Given the description of an element on the screen output the (x, y) to click on. 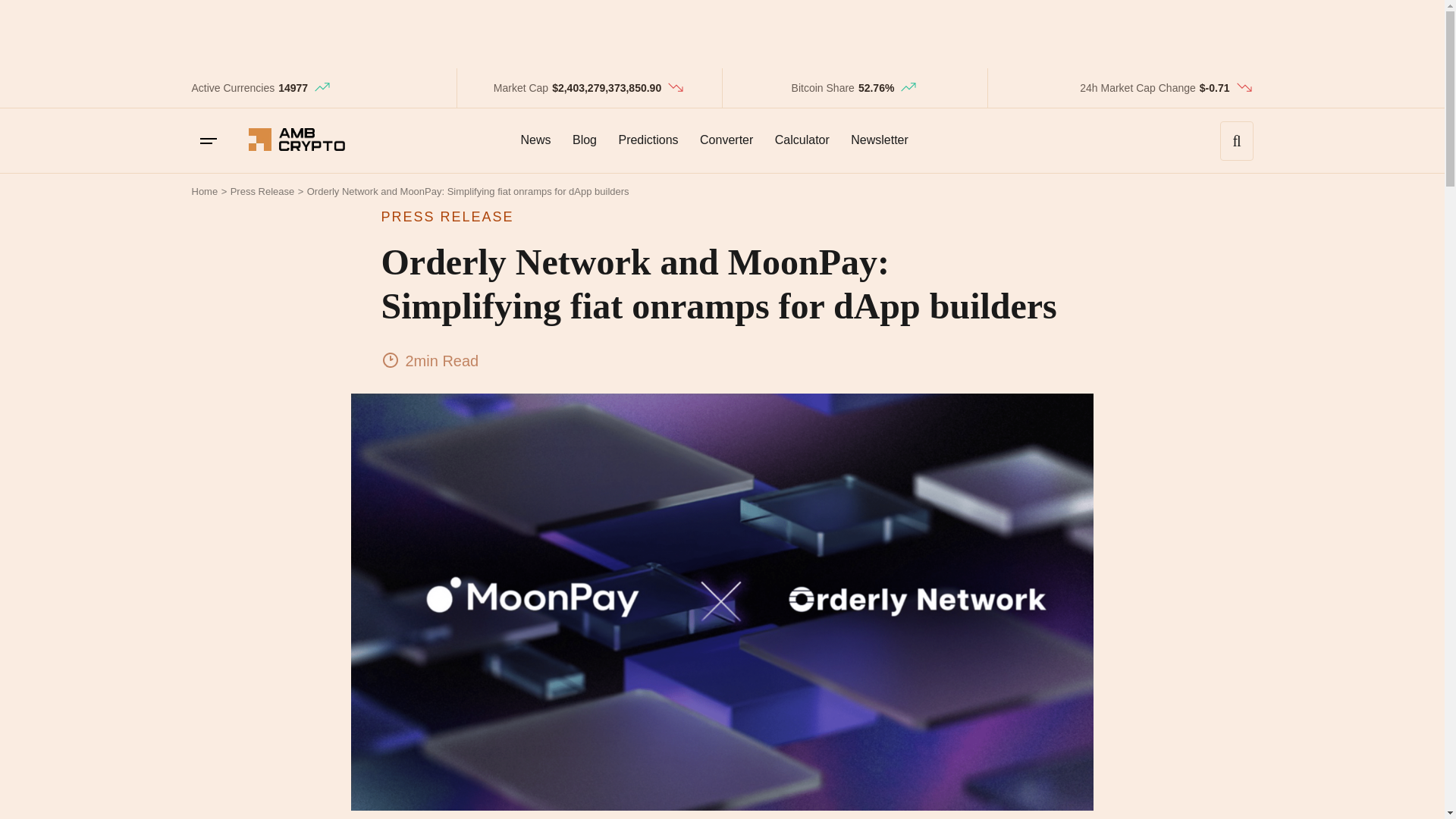
PRESS RELEASE (721, 216)
Calculator (801, 139)
Home (203, 191)
Blog (584, 139)
Home (203, 191)
Newsletter (879, 139)
News (535, 139)
Predictions (647, 139)
Press Release (262, 191)
Converter (725, 139)
